Given the description of an element on the screen output the (x, y) to click on. 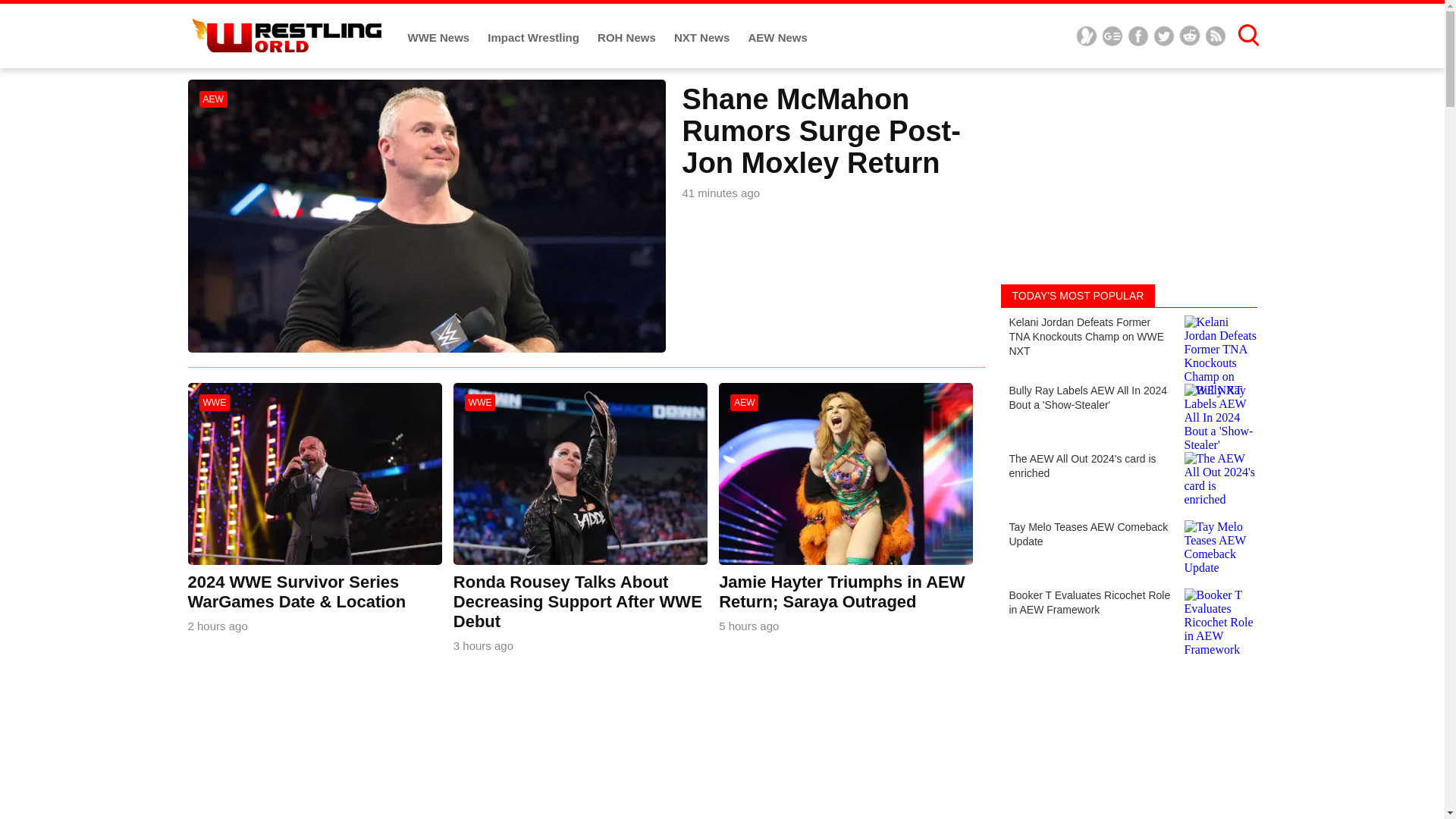
NXT News (703, 37)
ROH News (627, 37)
Impact Wrestling (534, 37)
WWE News (440, 37)
AEW News (777, 37)
